Given the description of an element on the screen output the (x, y) to click on. 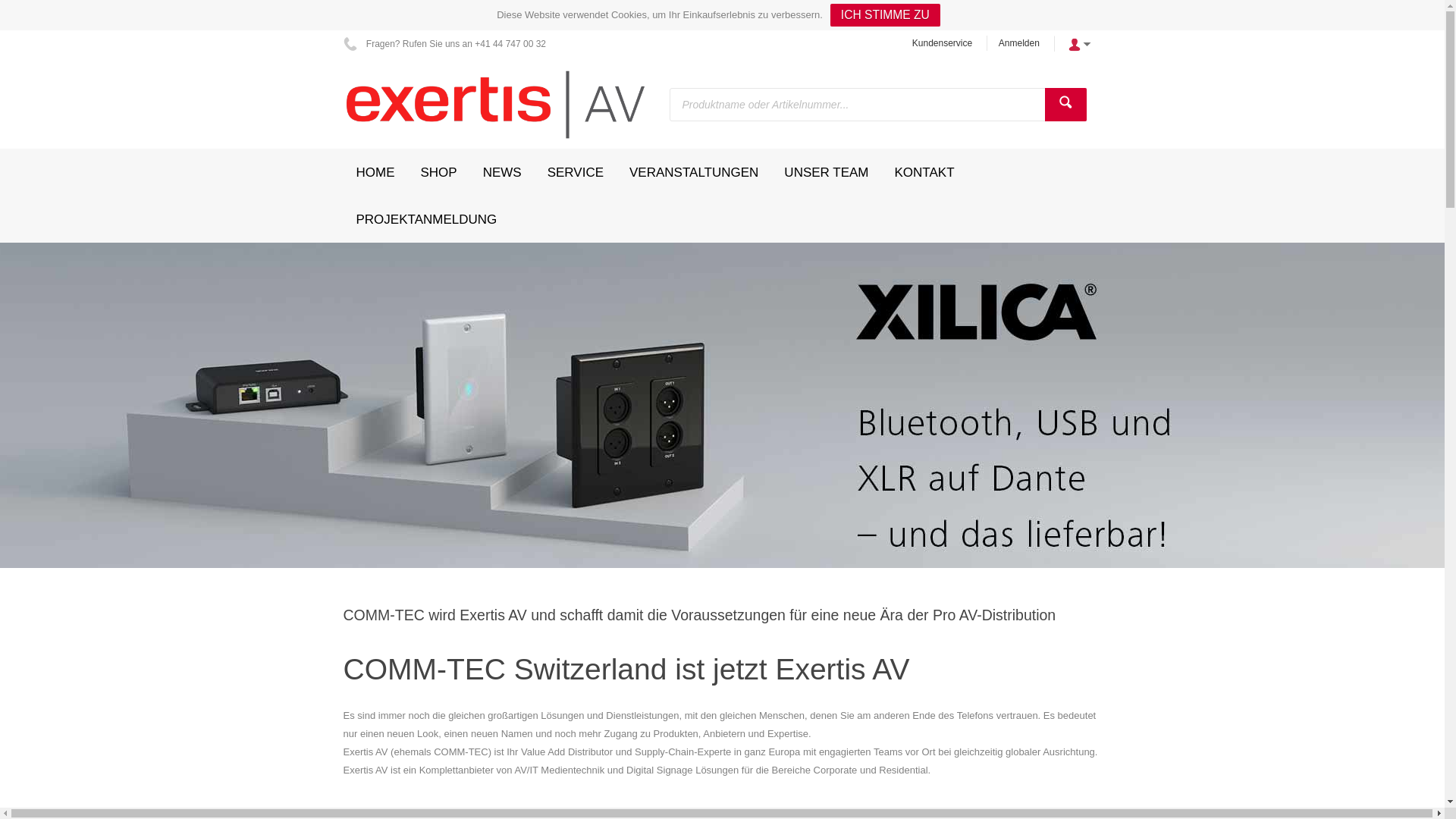
VERANSTALTUNGEN Element type: text (693, 171)
Produkt-Suche Element type: hover (1065, 104)
Kundenservice Element type: text (941, 42)
ICH STIMME ZU Element type: text (885, 14)
NEWS Element type: text (502, 171)
HOME Element type: text (374, 171)
SHOP Element type: text (438, 171)
UNSER TEAM Element type: text (826, 171)
KONTAKT Element type: text (924, 171)
SERVICE Element type: text (575, 171)
PROJEKTANMELDUNG Element type: text (425, 218)
Anmelden Element type: text (1018, 42)
